Given the description of an element on the screen output the (x, y) to click on. 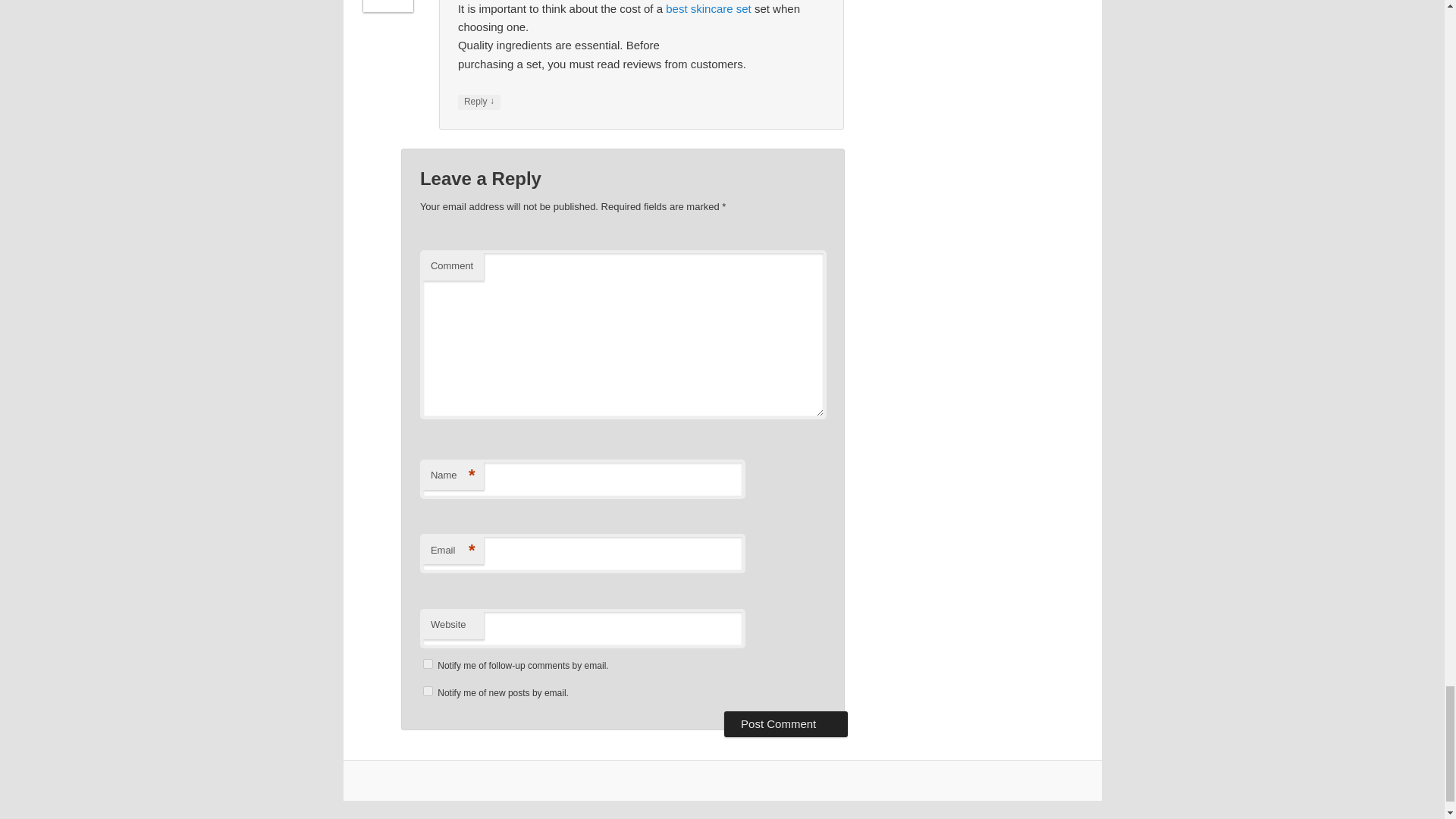
Post Comment (785, 724)
subscribe (427, 691)
subscribe (427, 664)
best skincare set (708, 8)
